Given the description of an element on the screen output the (x, y) to click on. 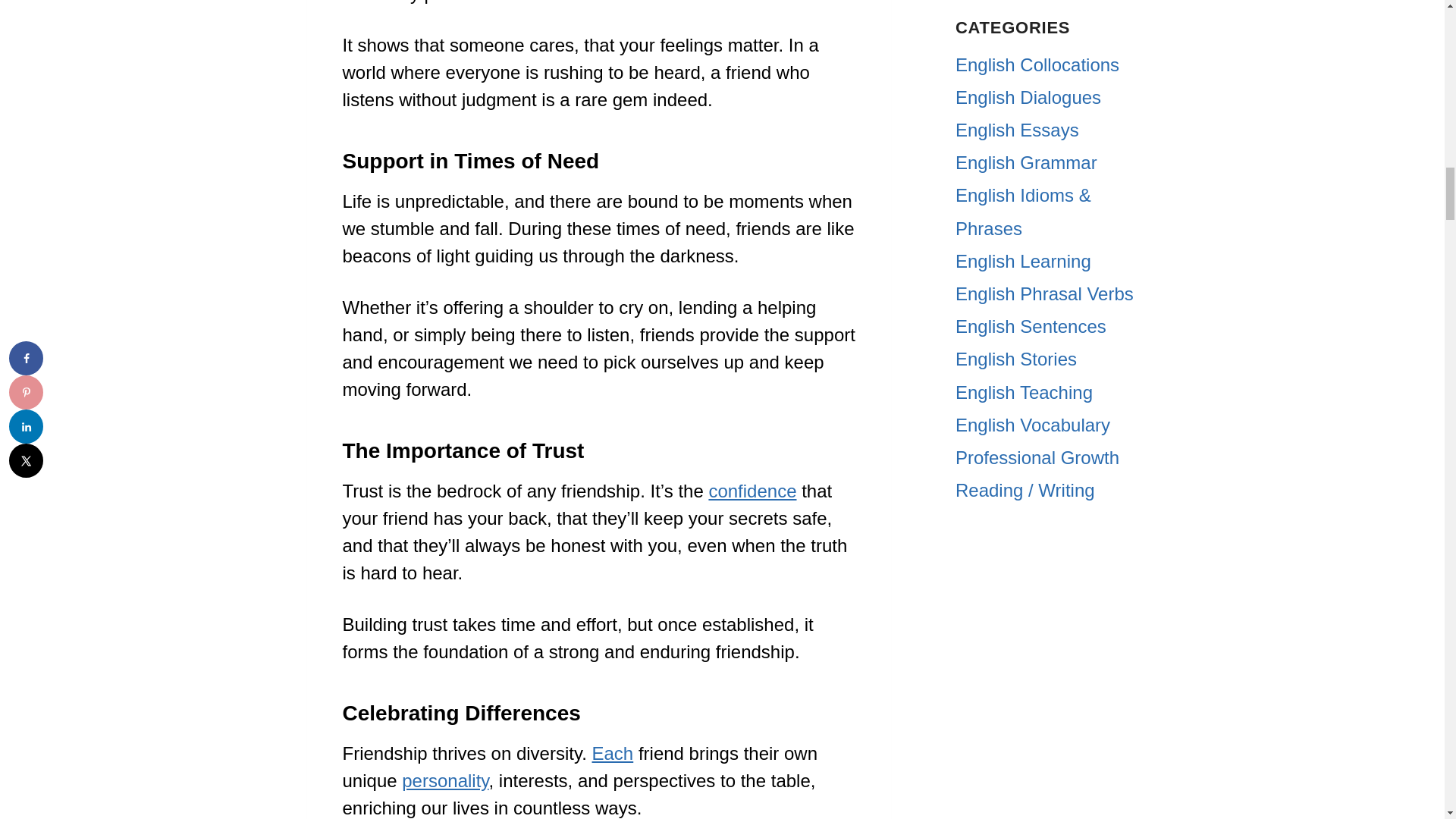
confidence (751, 490)
Each (612, 752)
personality (444, 780)
